Given the description of an element on the screen output the (x, y) to click on. 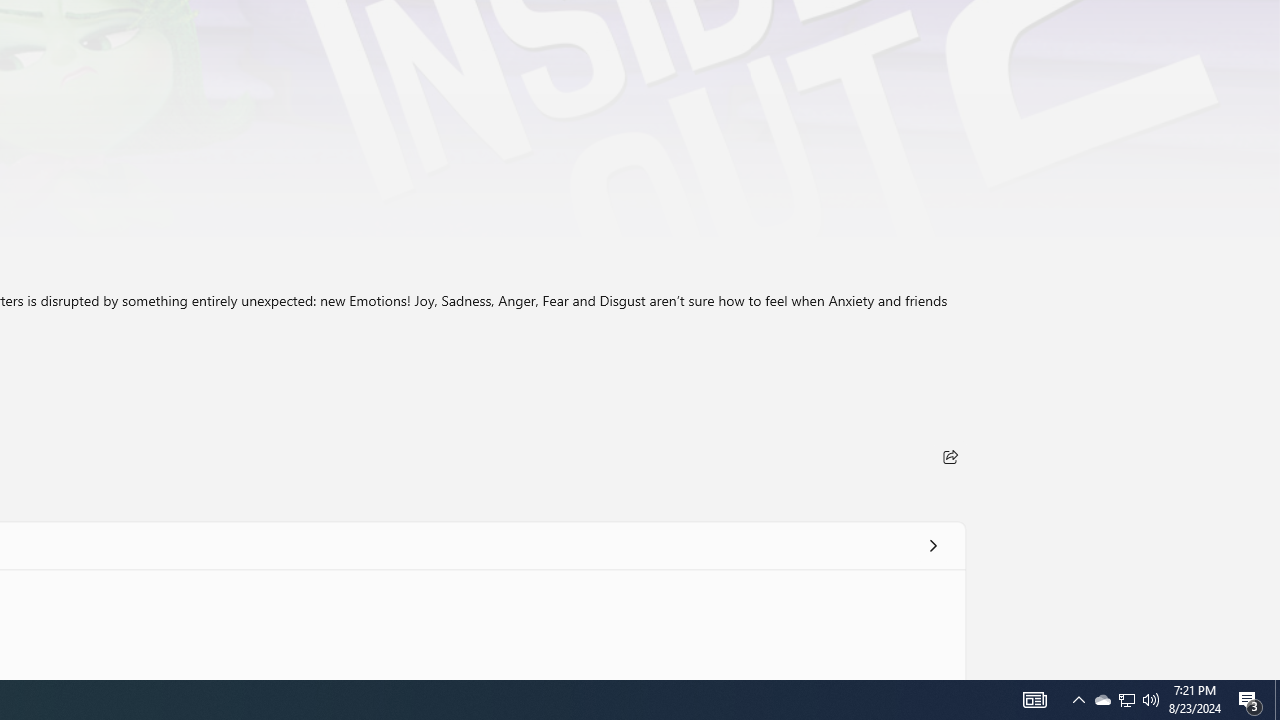
Share (950, 456)
See all (932, 544)
